Given the description of an element on the screen output the (x, y) to click on. 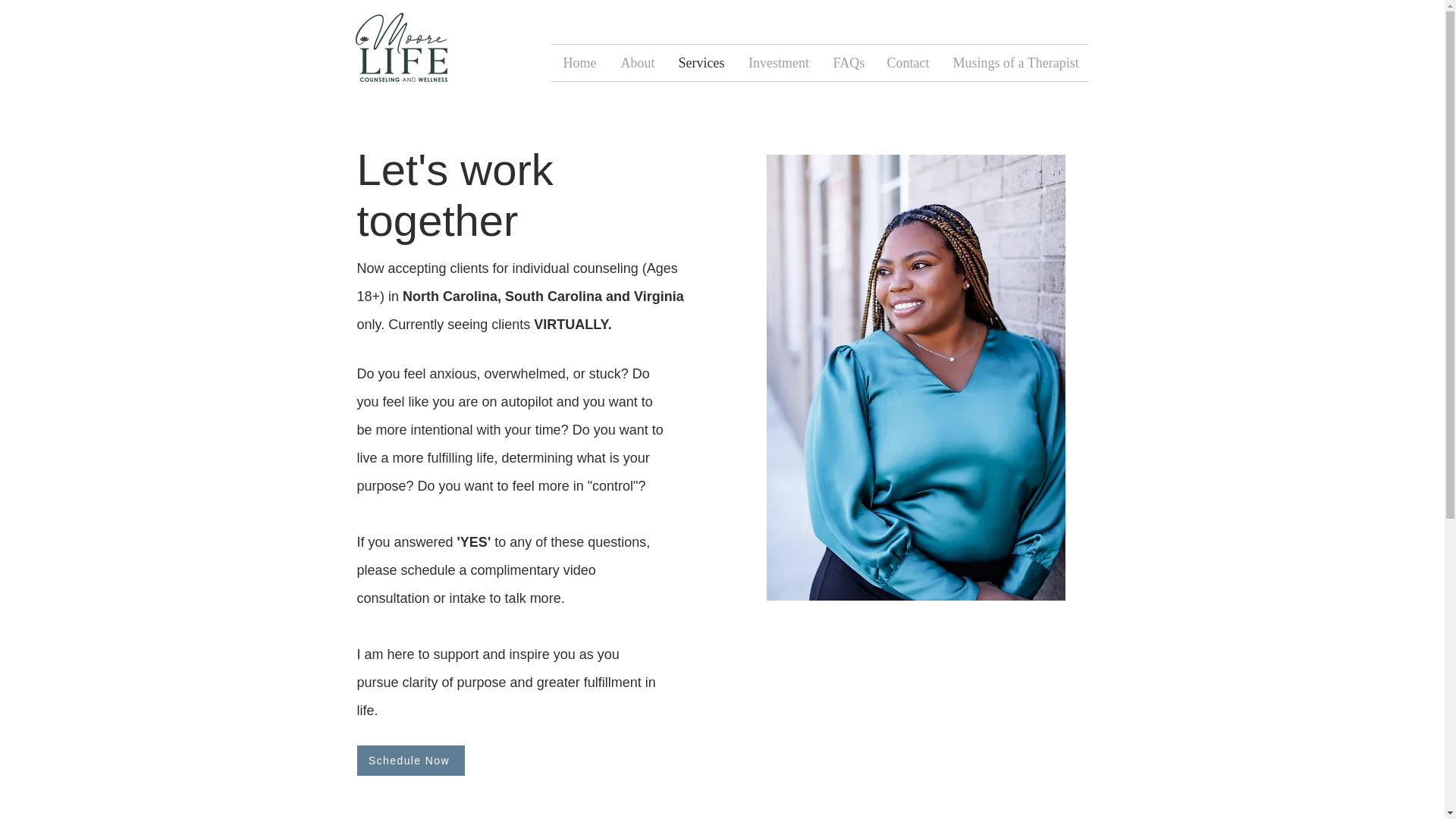
Investment (778, 63)
Schedule Now (410, 760)
FAQs (848, 63)
Services (701, 63)
About (637, 63)
Contact (908, 63)
Home (579, 63)
Musings of a Therapist (1014, 63)
